Given the description of an element on the screen output the (x, y) to click on. 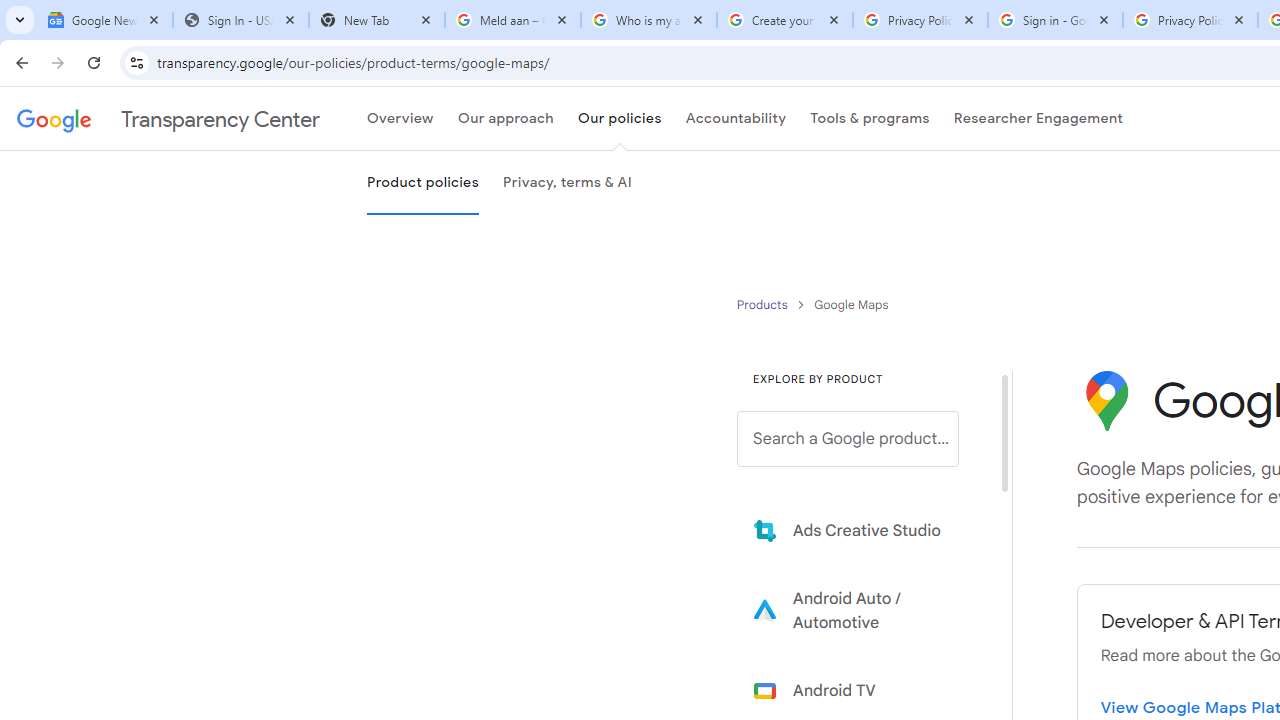
New Tab (376, 20)
Transparency Center (167, 119)
Researcher Engagement (1038, 119)
Tools & programs (869, 119)
Learn more about Android Auto (862, 610)
Search a Google product from below list. (847, 439)
Our policies (619, 119)
Google News (104, 20)
Privacy, terms & AI (567, 183)
